Given the description of an element on the screen output the (x, y) to click on. 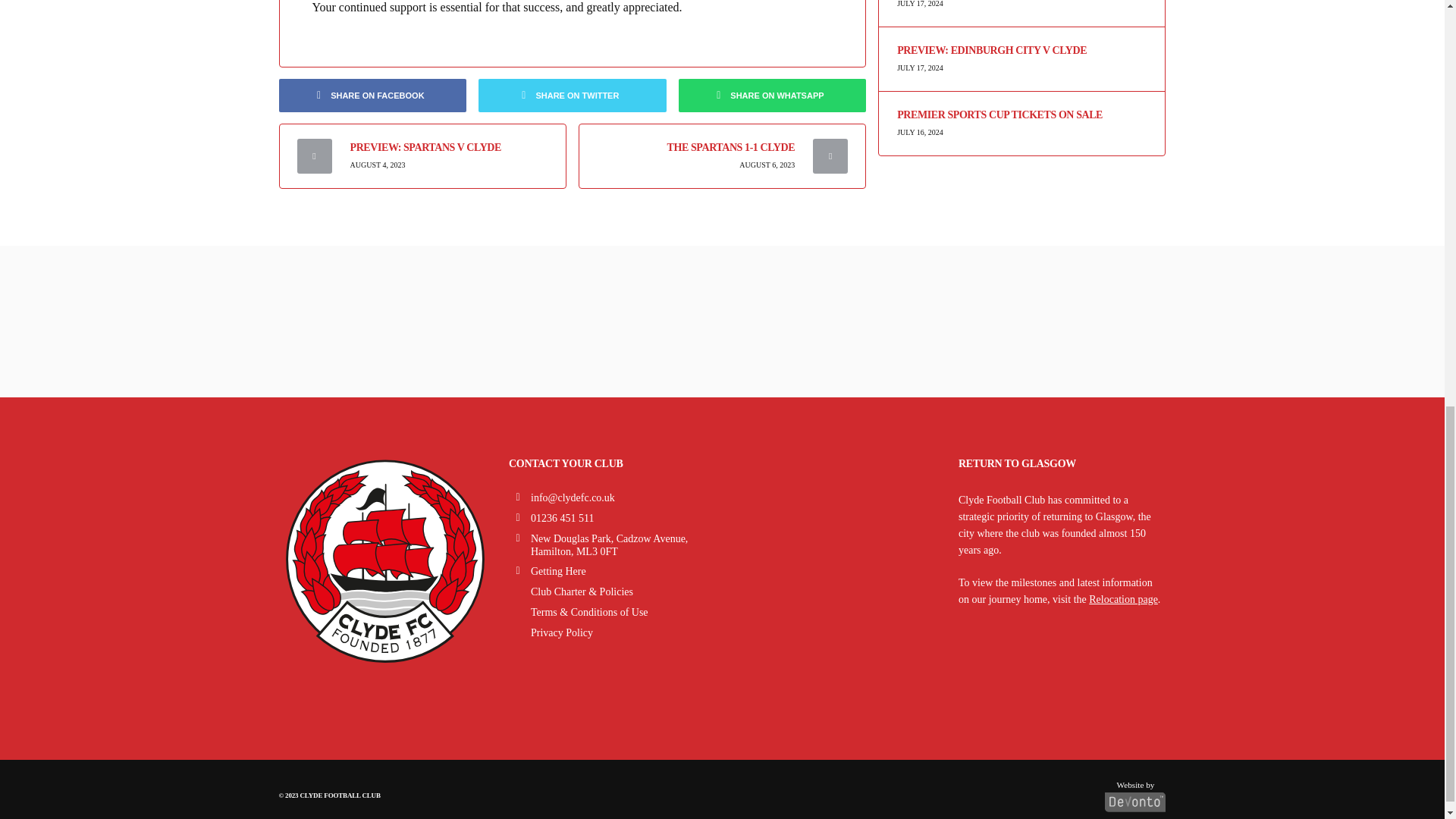
Devonto Web Design Cumbernauld (1135, 792)
Premier Sports Cup Tickets On Sale (1021, 114)
PREVIEW: Edinburgh City v Clyde (1021, 50)
